Given the description of an element on the screen output the (x, y) to click on. 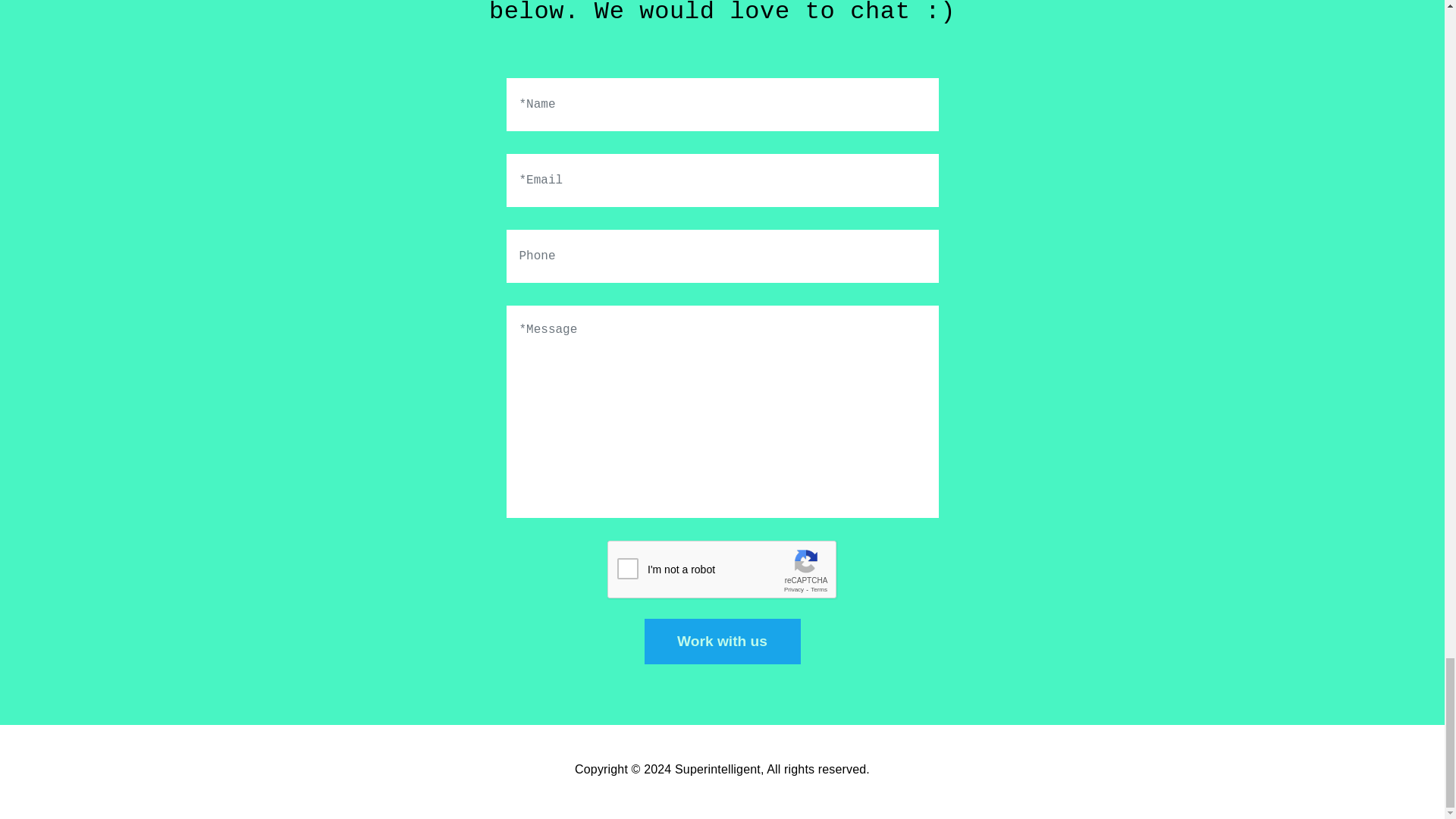
reCAPTCHA (722, 569)
Work with us (722, 641)
Work with us (722, 641)
